Given the description of an element on the screen output the (x, y) to click on. 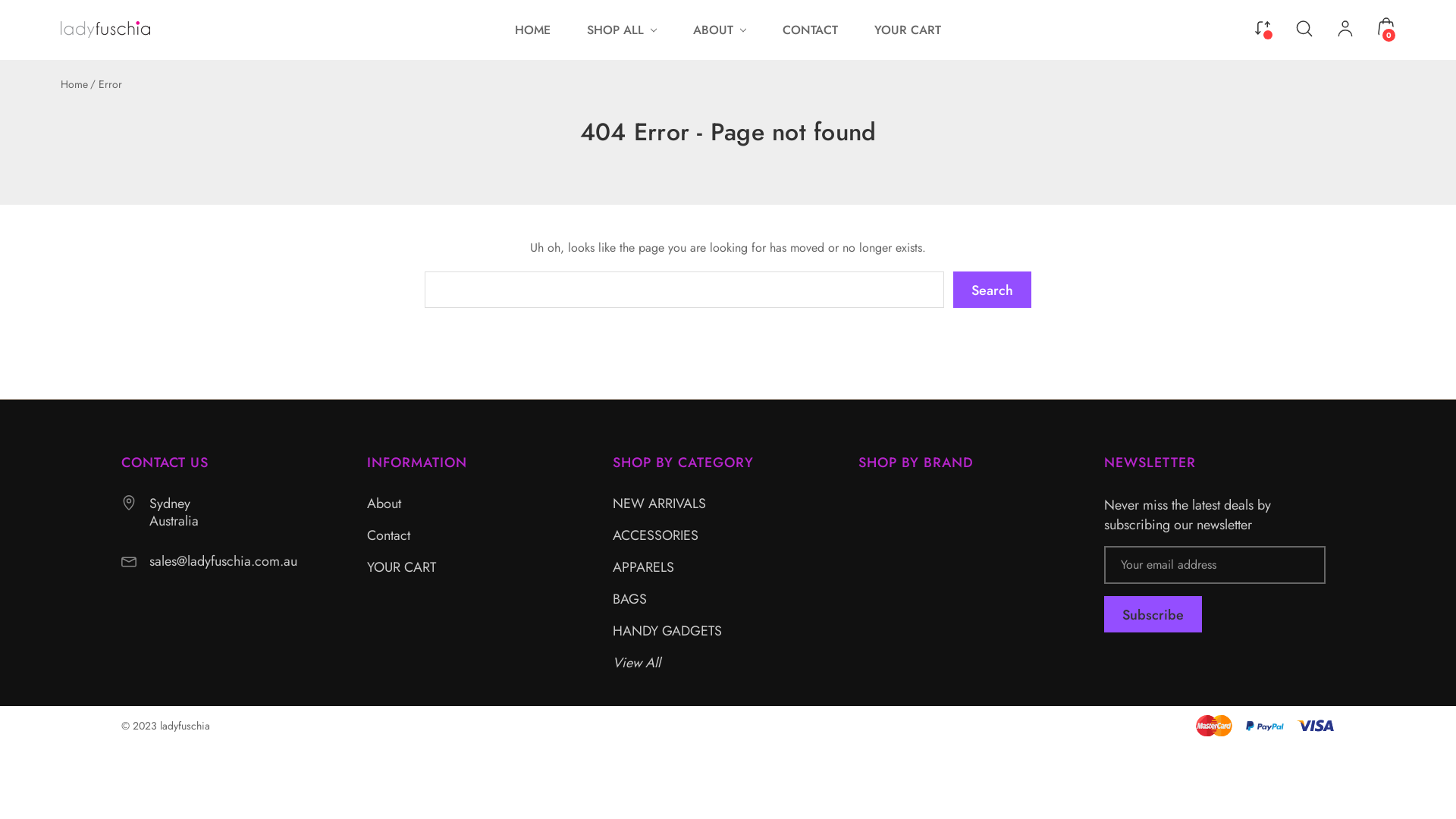
Home Element type: text (73, 83)
APPARELS Element type: text (643, 567)
ACCESSORIES Element type: text (655, 535)
sales@ladyfuschia.com.au Element type: text (223, 561)
Compare Element type: hover (1262, 26)
About Element type: text (384, 503)
Search Element type: text (992, 289)
SHOP ALL Element type: text (621, 29)
NEW ARRIVALS Element type: text (659, 503)
HANDY GADGETS Element type: text (666, 630)
YOUR CART Element type: text (907, 29)
ladyfuschia Element type: hover (105, 29)
HOME Element type: text (532, 29)
BAGS Element type: text (629, 598)
View All Element type: text (636, 662)
ABOUT Element type: text (719, 29)
Subscribe Element type: text (1152, 614)
0 Element type: text (1386, 26)
YOUR CART Element type: text (401, 567)
Contact Element type: text (388, 535)
CONTACT Element type: text (809, 29)
